Given the description of an element on the screen output the (x, y) to click on. 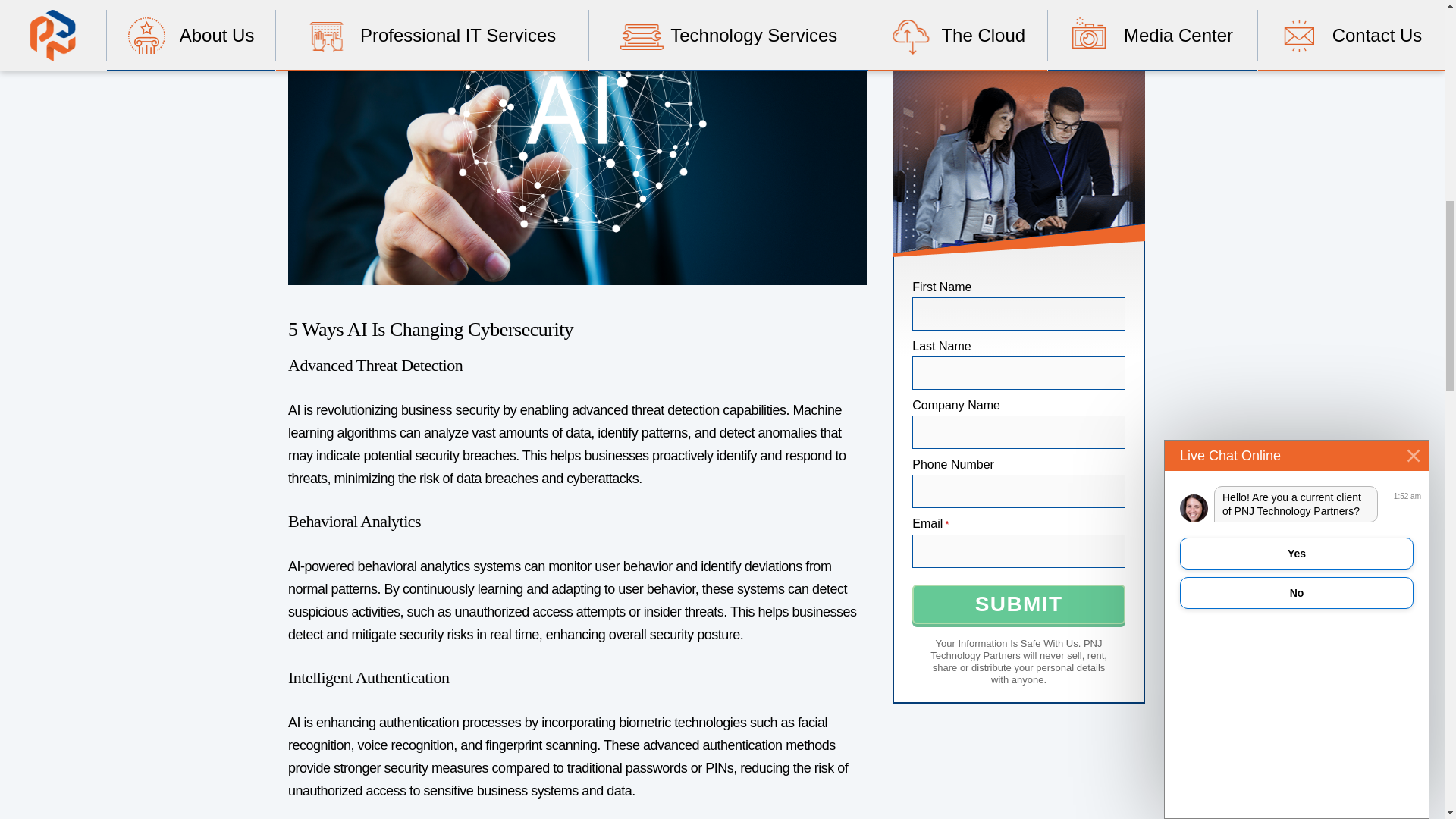
Submit (1018, 604)
